Given the description of an element on the screen output the (x, y) to click on. 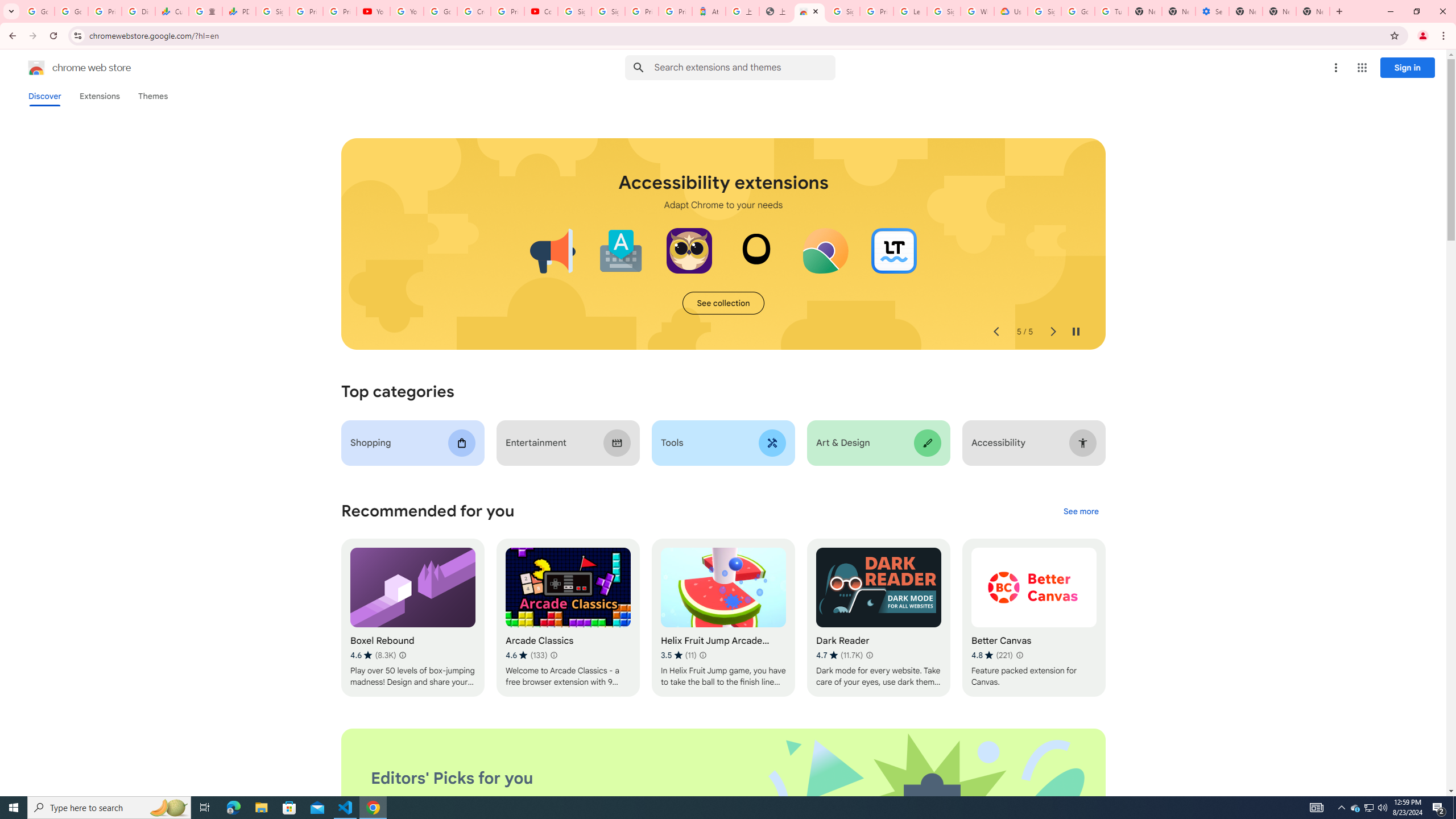
Arcade Classics (567, 617)
Sign in - Google Accounts (842, 11)
Art & Design (878, 443)
Average rating 4.6 out of 5 stars. 133 ratings. (526, 655)
Google apps (1362, 67)
Dark Reader (878, 617)
Average rating 4.8 out of 5 stars. 221 ratings. (992, 655)
New Tab (1246, 11)
New Tab (1338, 11)
Pause auto-play (1075, 331)
Back (10, 35)
YouTube (406, 11)
